Given the description of an element on the screen output the (x, y) to click on. 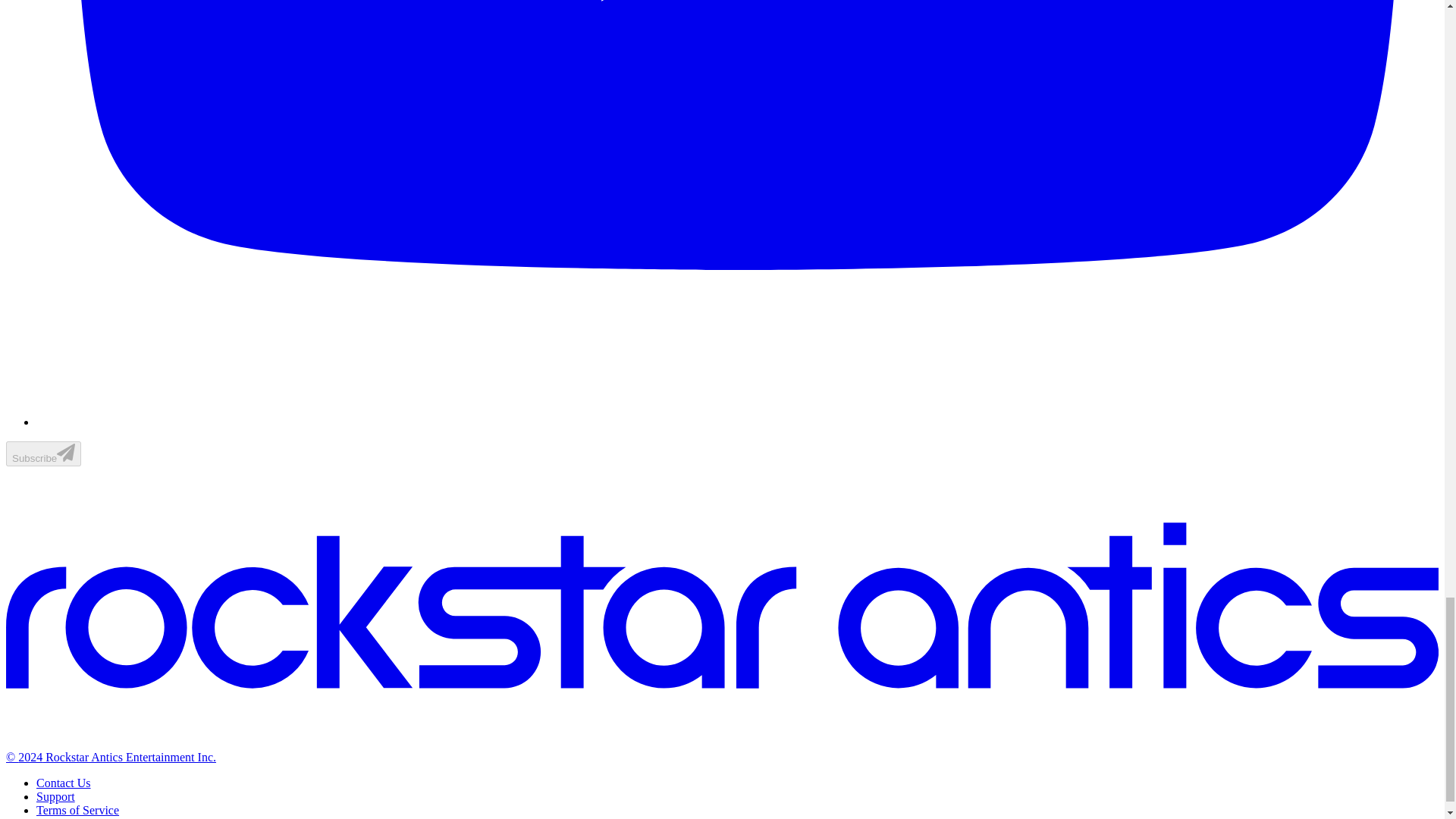
Contact Us (63, 782)
Support (55, 796)
Subscribe (43, 453)
Terms of Service (77, 809)
